Given the description of an element on the screen output the (x, y) to click on. 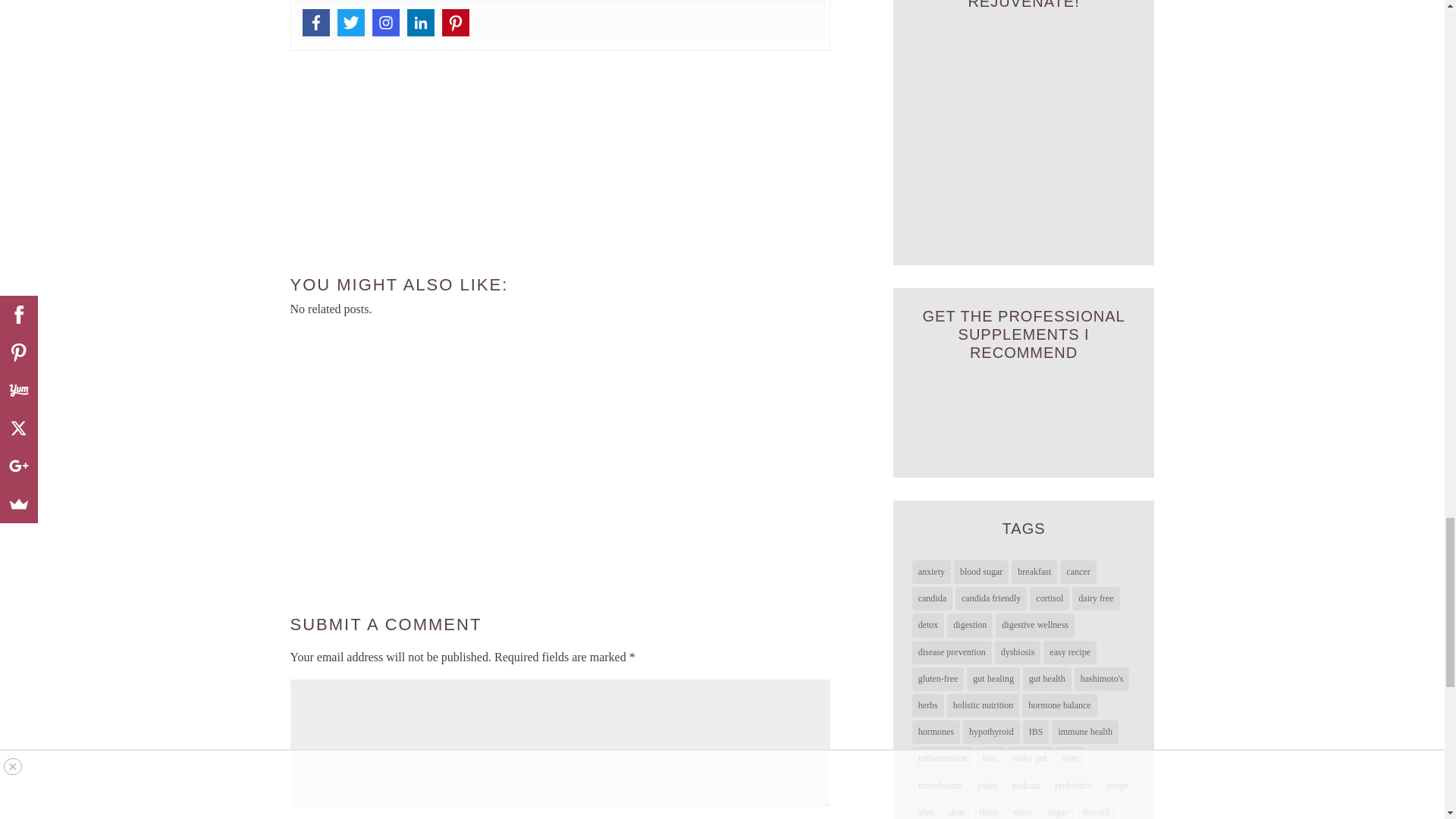
Twitter (350, 22)
Facebook (315, 22)
Pinterest (454, 22)
Linkedin (419, 22)
Instagram (384, 22)
